Given the description of an element on the screen output the (x, y) to click on. 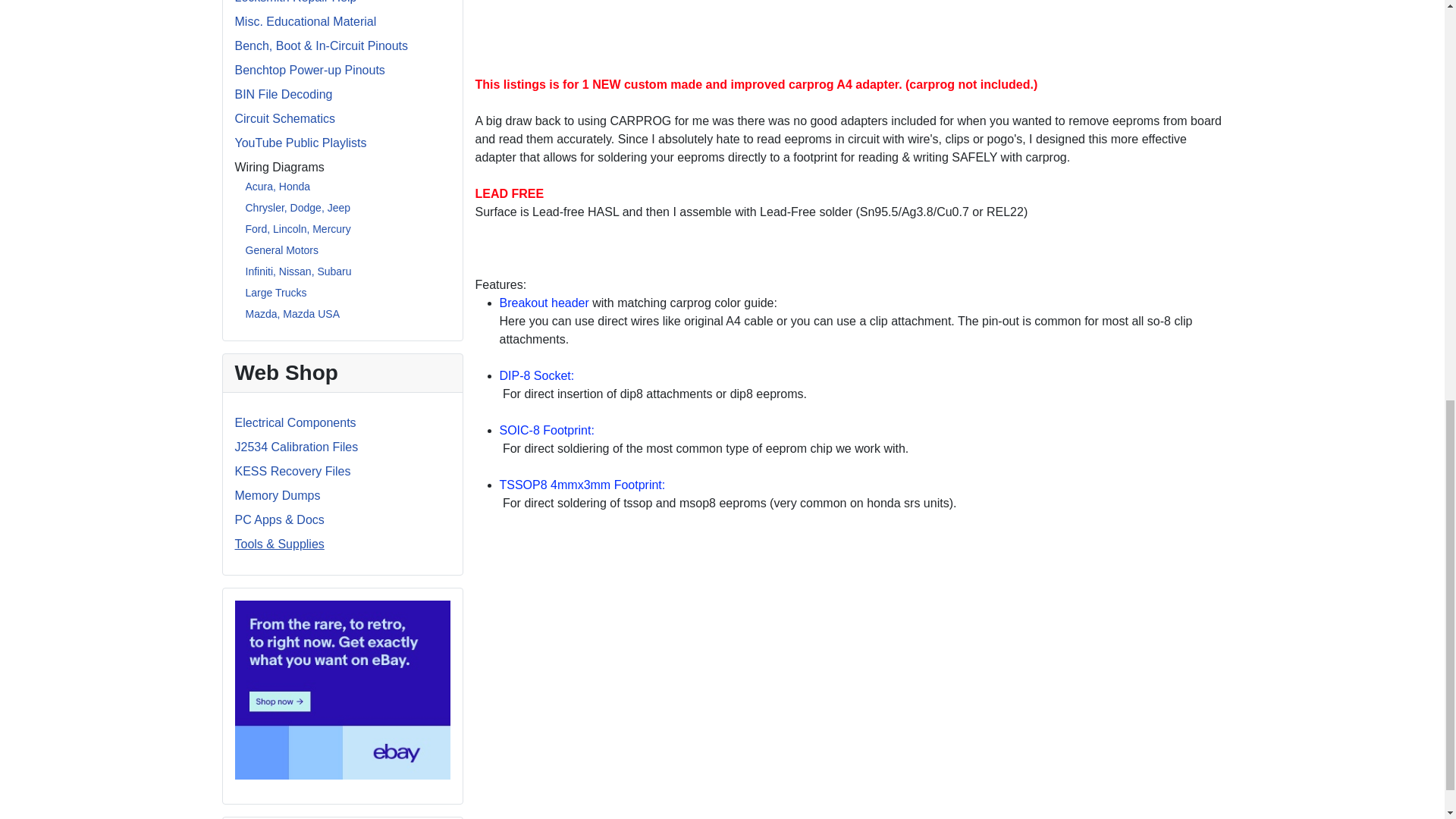
J2534 Calibration Files (296, 446)
Circuit Schematics (284, 118)
Ford, Lincoln, Mercury (298, 228)
Mazda, Mazda USA (293, 313)
Acura, Honda (278, 186)
General Motors (282, 250)
Locksmith Repair Help (295, 2)
Benchtop Power-up Pinouts (309, 69)
CARPROG adapter A4 PLUS direct solder for eeprom (662, 33)
Memory Dumps (277, 495)
